Given the description of an element on the screen output the (x, y) to click on. 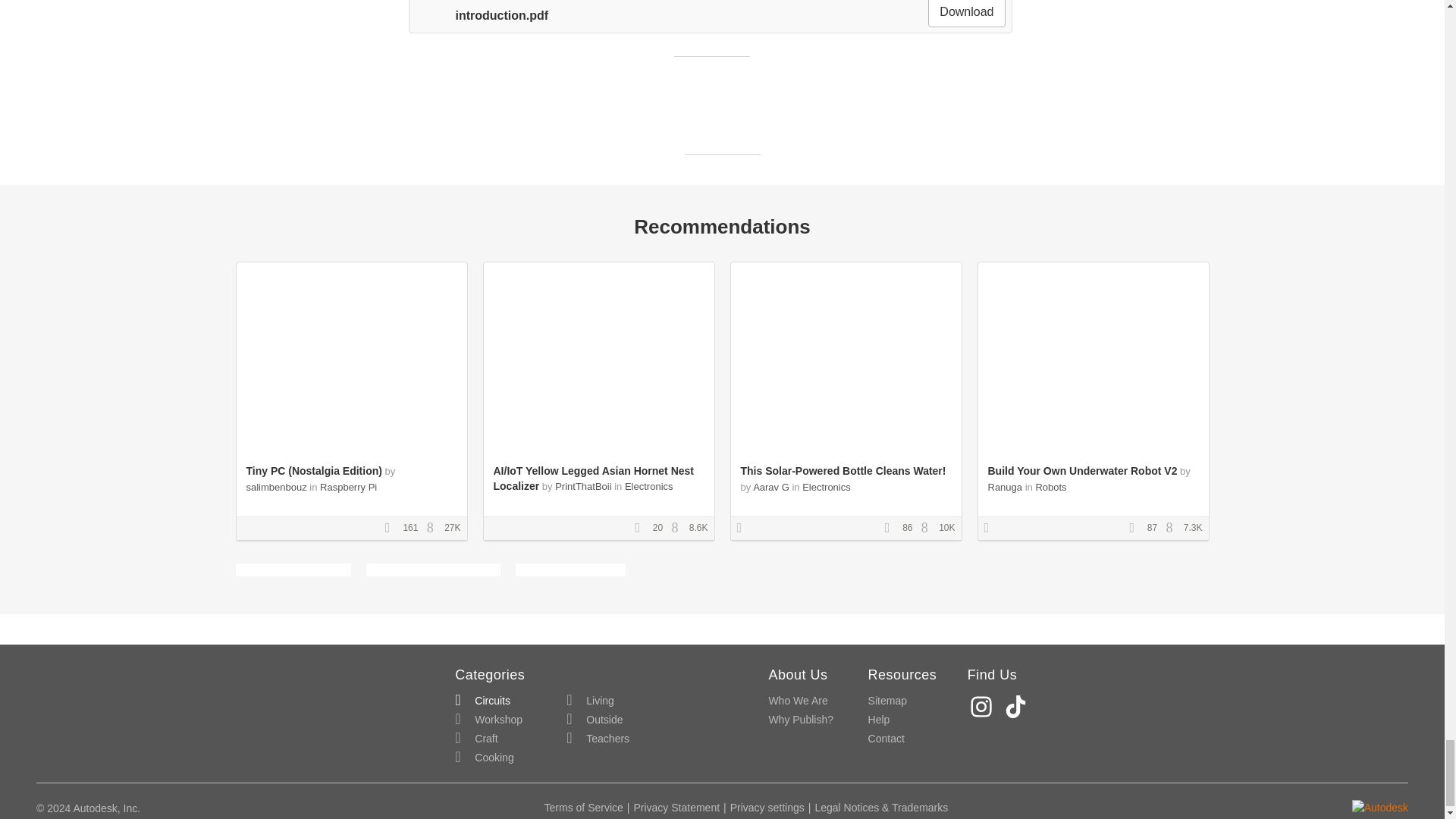
introduction.pdf (480, 15)
Favorites Count (641, 528)
Views Count (928, 528)
Views Count (1173, 528)
TikTok (1018, 706)
Favorites Count (1136, 528)
Contest Winner (991, 528)
Favorites Count (392, 528)
Favorites Count (892, 528)
Contest Winner (744, 528)
